Given the description of an element on the screen output the (x, y) to click on. 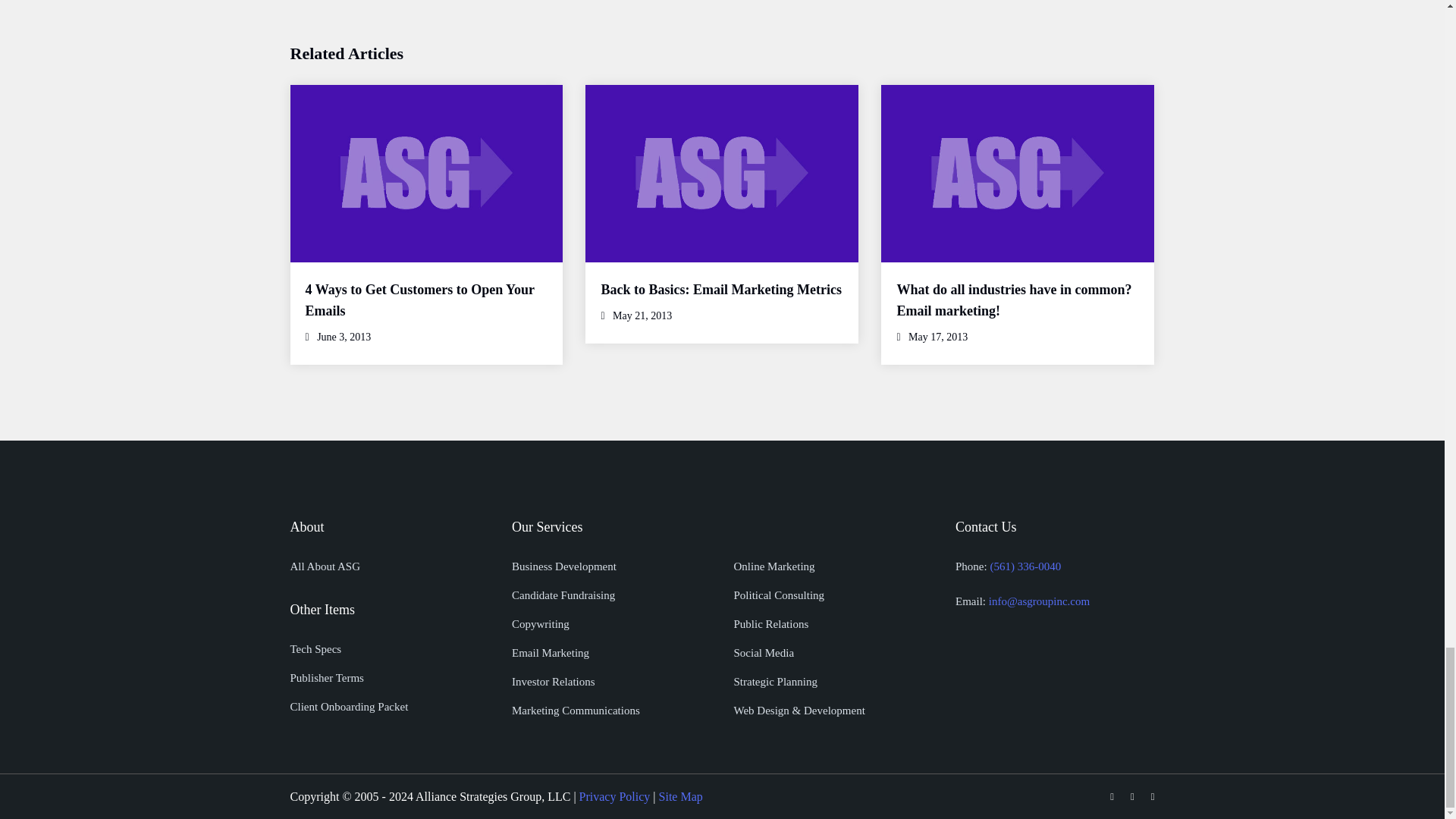
Privacy Policy (614, 796)
What do all industries have in common? Email marketing! (1013, 299)
Send us an email (1038, 601)
Site Map (681, 796)
4 Ways to Get Customers to Open Your Emails (419, 299)
Back to Basics: Email Marketing Metrics (720, 289)
Give us a call (1025, 566)
